Given the description of an element on the screen output the (x, y) to click on. 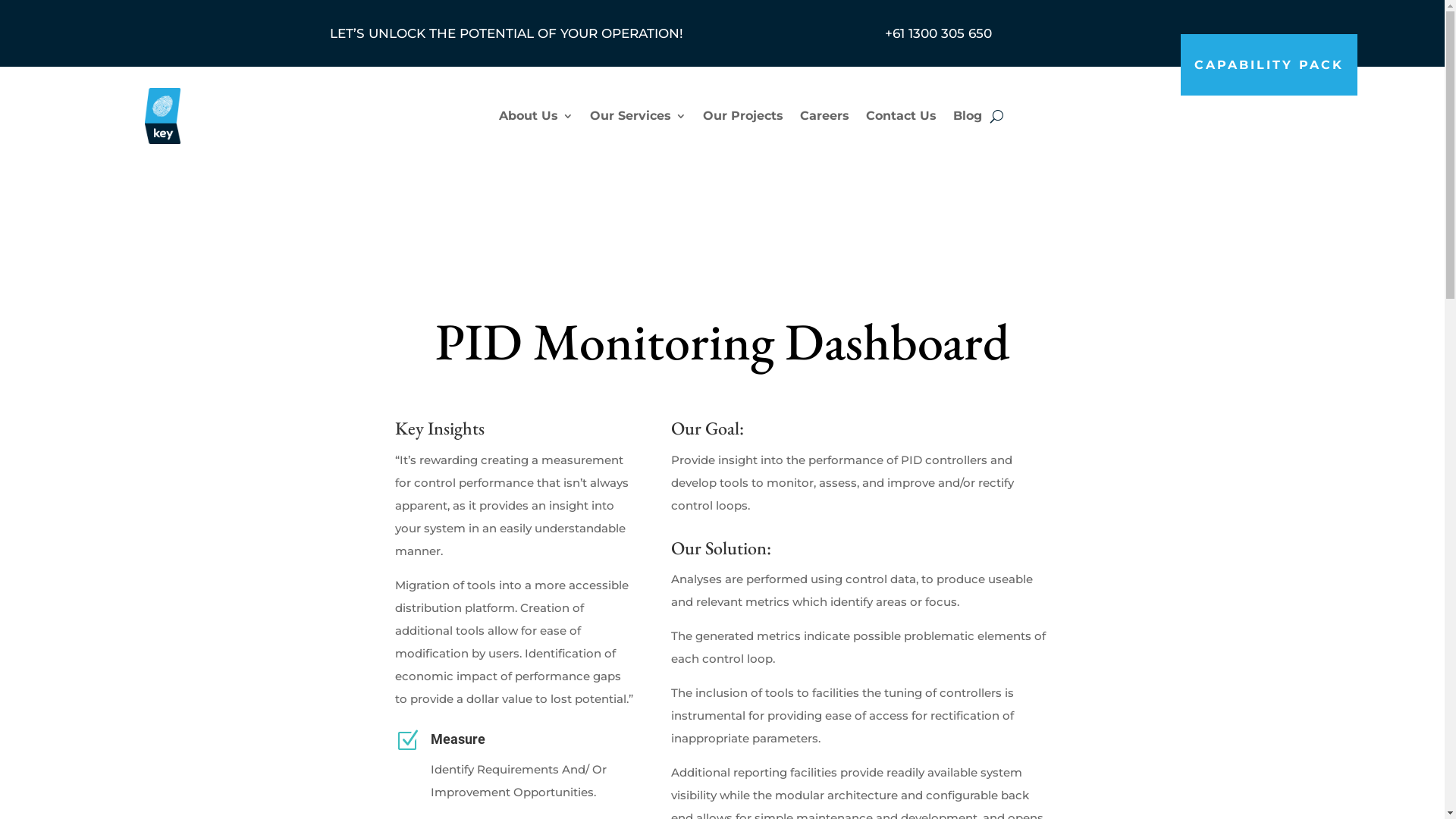
Careers Element type: text (823, 115)
Our Services Element type: text (637, 115)
CAPABILITY PACK Element type: text (1267, 64)
Our Projects Element type: text (742, 115)
Contact Us Element type: text (901, 115)
About Us Element type: text (535, 115)
Blog Element type: text (966, 115)
